Given the description of an element on the screen output the (x, y) to click on. 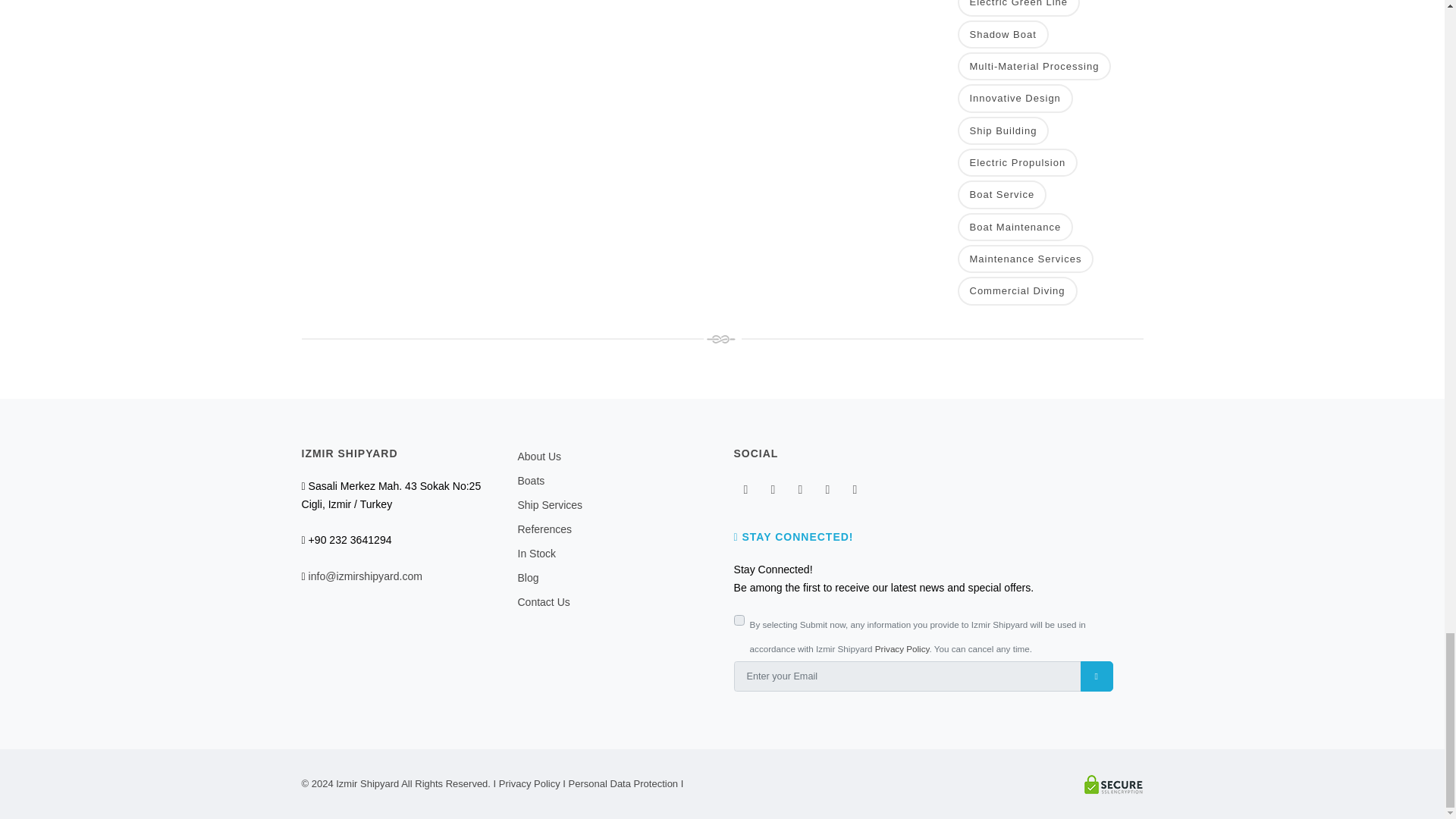
Subscribe (1096, 675)
